Given the description of an element on the screen output the (x, y) to click on. 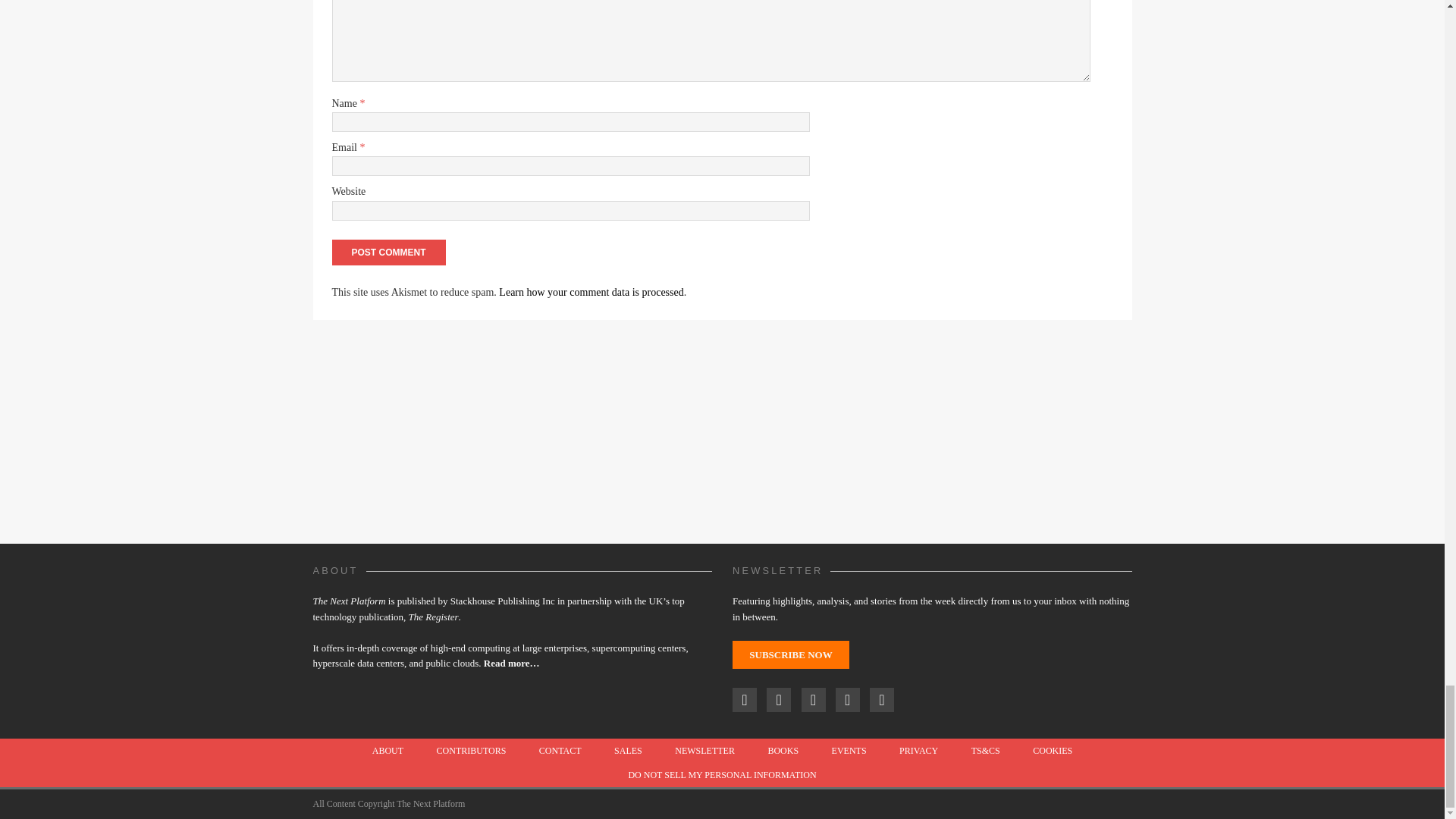
Post Comment (388, 252)
